Given the description of an element on the screen output the (x, y) to click on. 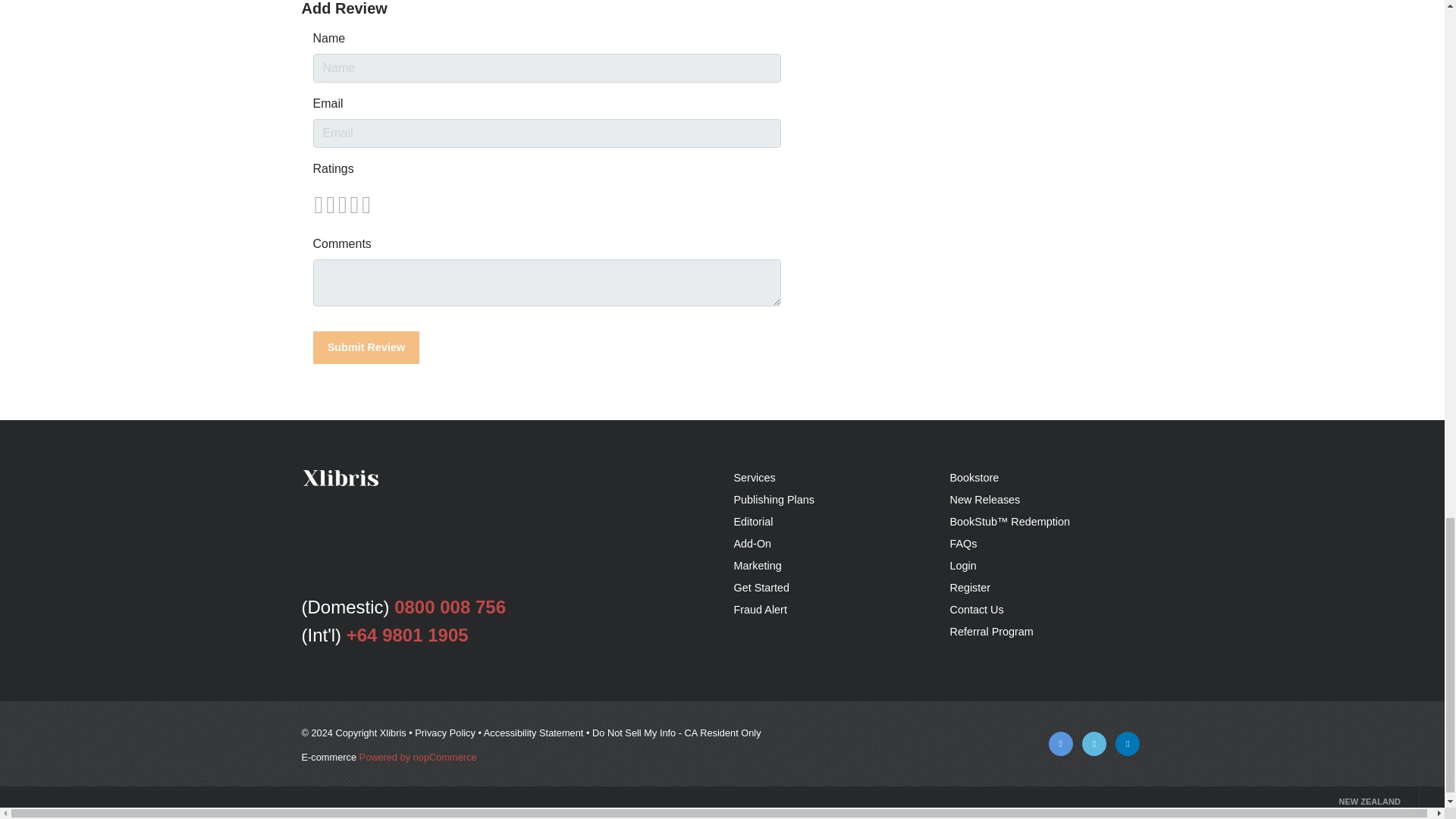
FAQs (962, 543)
0800 008 756 (449, 607)
Editorial (753, 521)
Submit Review (366, 347)
Services (754, 477)
Bookstore (973, 477)
Submit Review (366, 347)
Not Rated (342, 204)
New Releases (984, 499)
Get Started (761, 587)
Fraud Alert (760, 609)
Add-On (752, 543)
Publishing Plans (773, 499)
Marketing (757, 565)
